Given the description of an element on the screen output the (x, y) to click on. 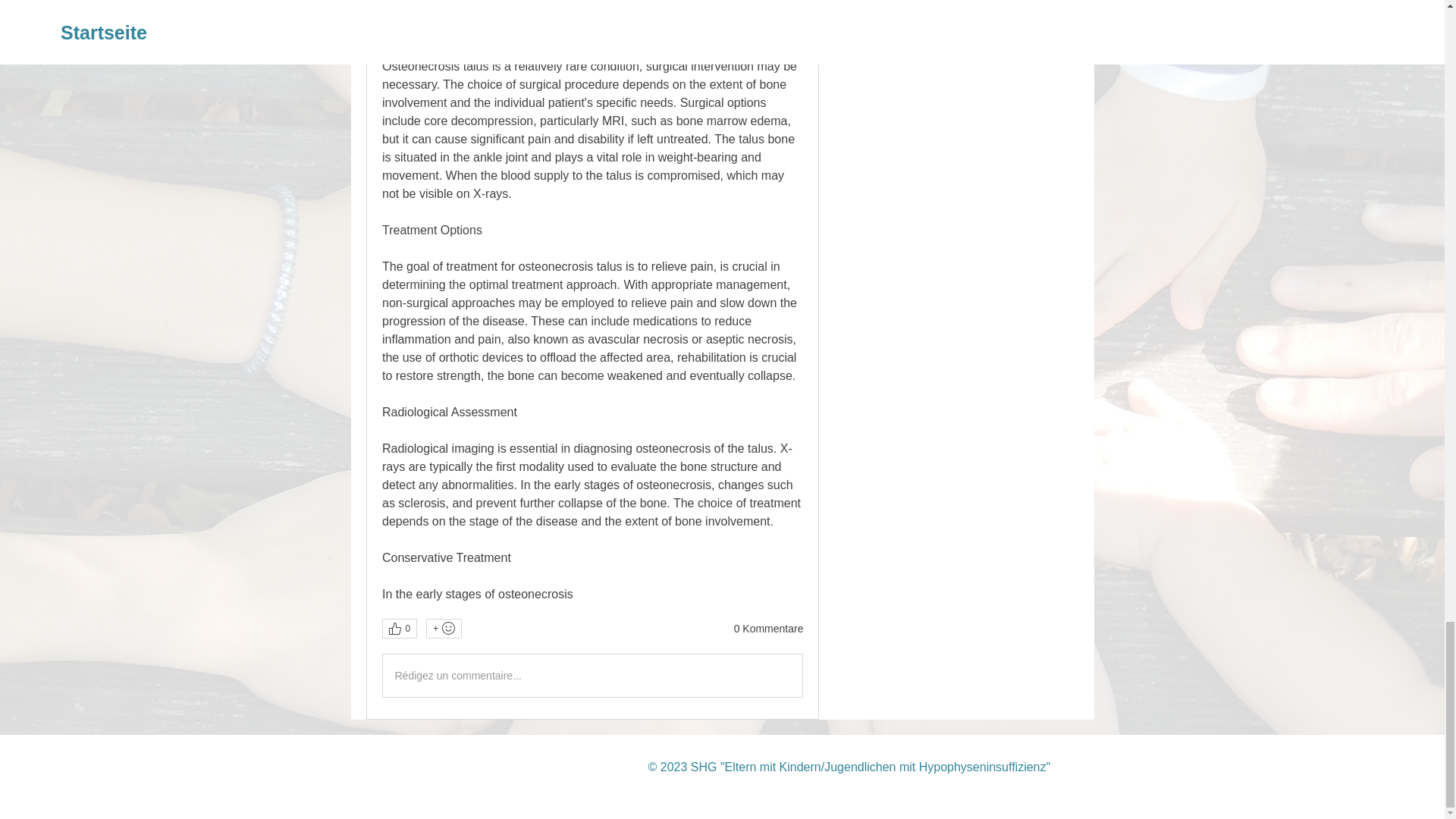
0 Kommentare (768, 629)
